Given the description of an element on the screen output the (x, y) to click on. 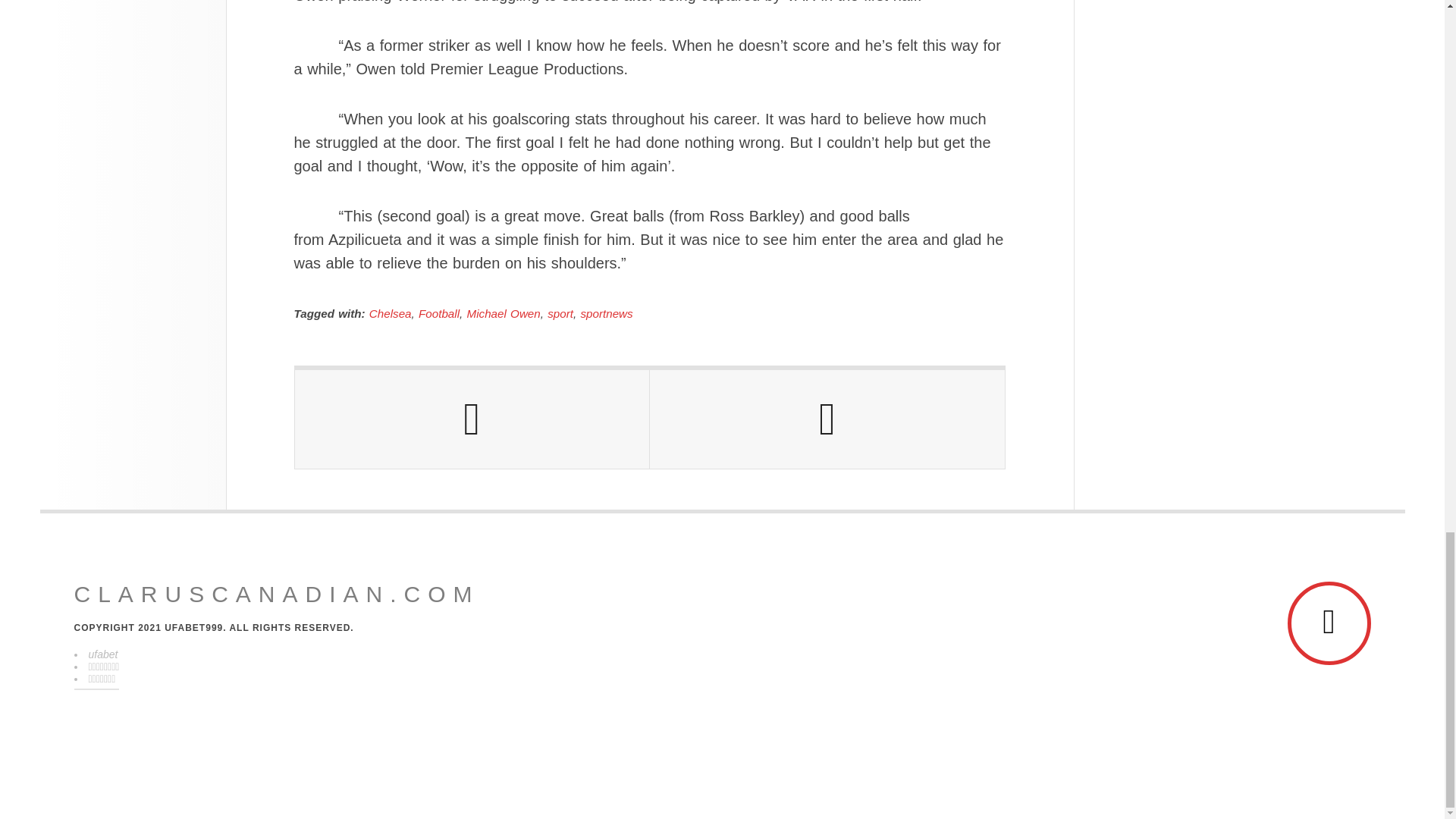
Football (439, 313)
sport (560, 313)
claruscanadian.com (277, 594)
Next Post (826, 419)
Previous Post (471, 419)
Michael Owen (503, 313)
sportnews (605, 313)
Chelsea (390, 313)
